Given the description of an element on the screen output the (x, y) to click on. 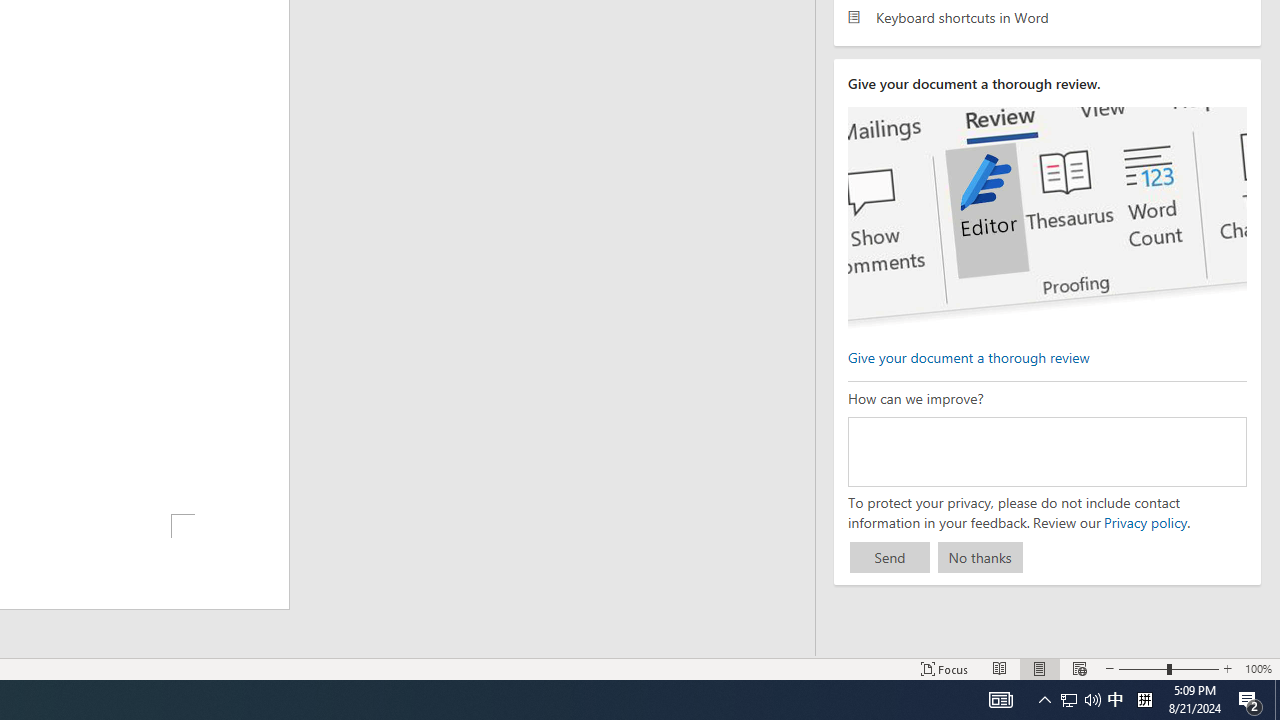
Web Layout (1079, 668)
Zoom In (1227, 668)
Zoom 100% (1258, 668)
Read Mode (1000, 668)
Send (889, 557)
Give your document a thorough review (968, 356)
Print Layout (1039, 668)
editor ui screenshot (1046, 218)
No thanks (980, 557)
Privacy policy (1144, 522)
How can we improve? (1046, 451)
Focus  (944, 668)
Zoom (1168, 668)
Keyboard shortcuts in Word (1047, 16)
Zoom Out (1142, 668)
